Given the description of an element on the screen output the (x, y) to click on. 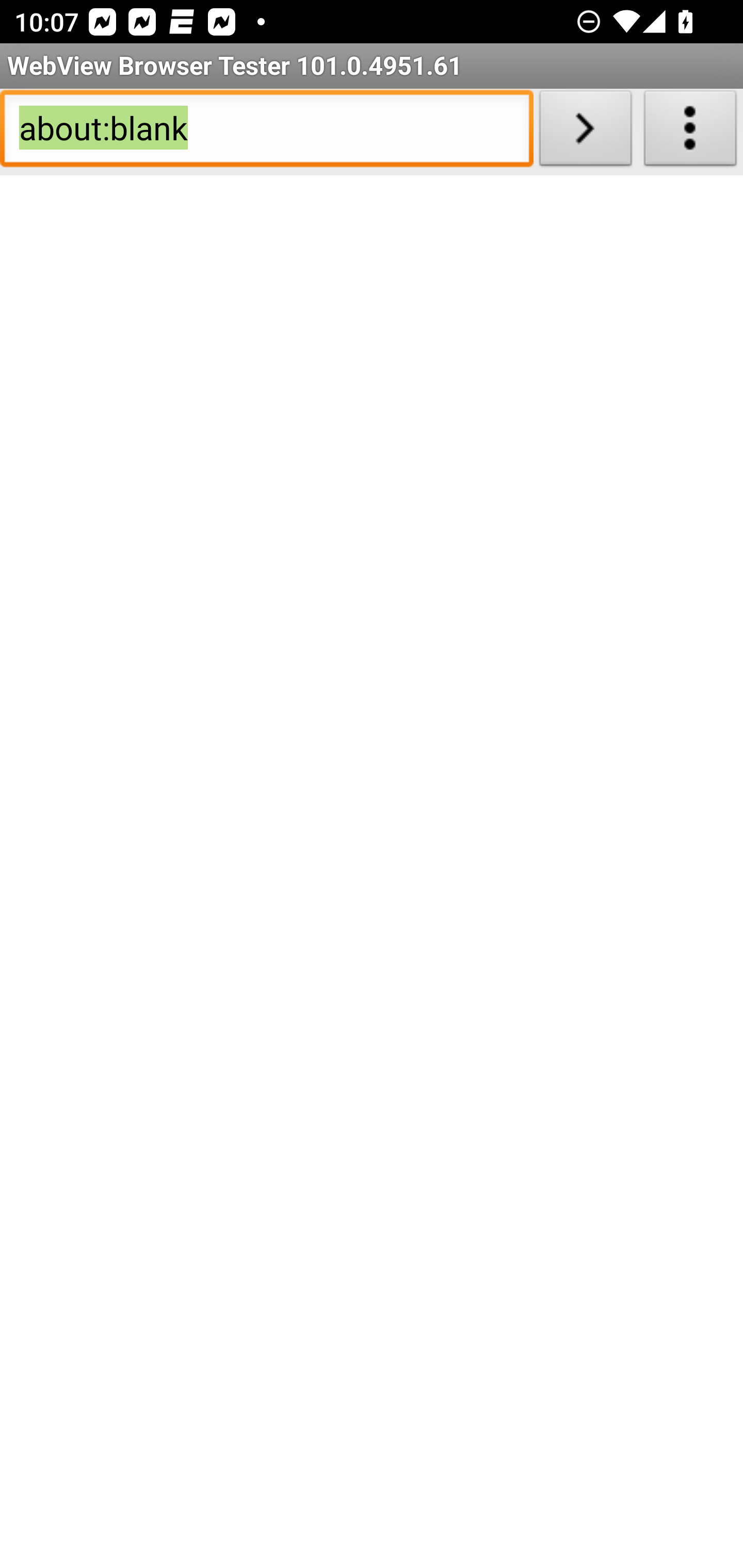
about:blank (266, 132)
Load URL (585, 132)
About WebView (690, 132)
